Given the description of an element on the screen output the (x, y) to click on. 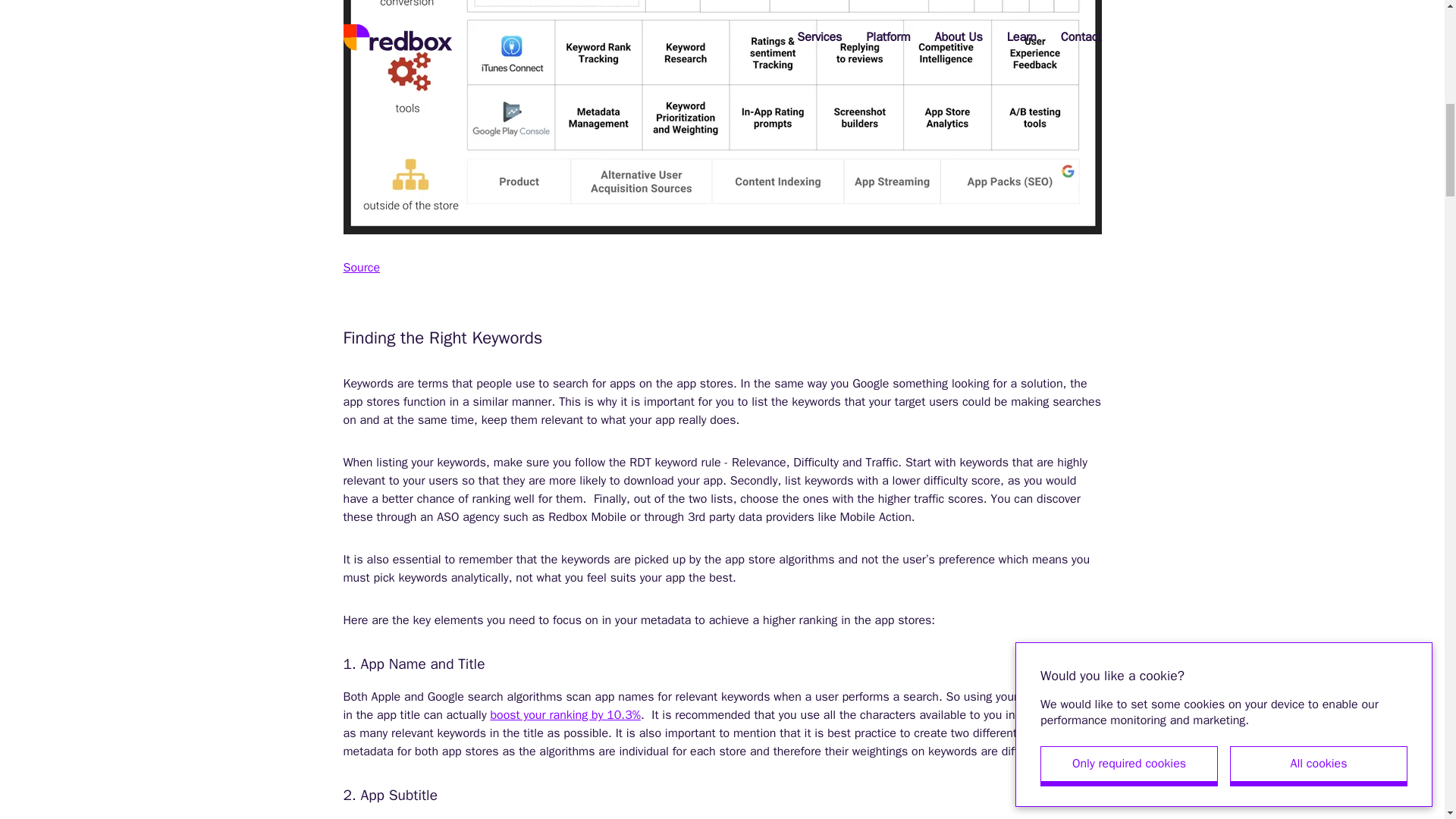
Source (361, 267)
